Given the description of an element on the screen output the (x, y) to click on. 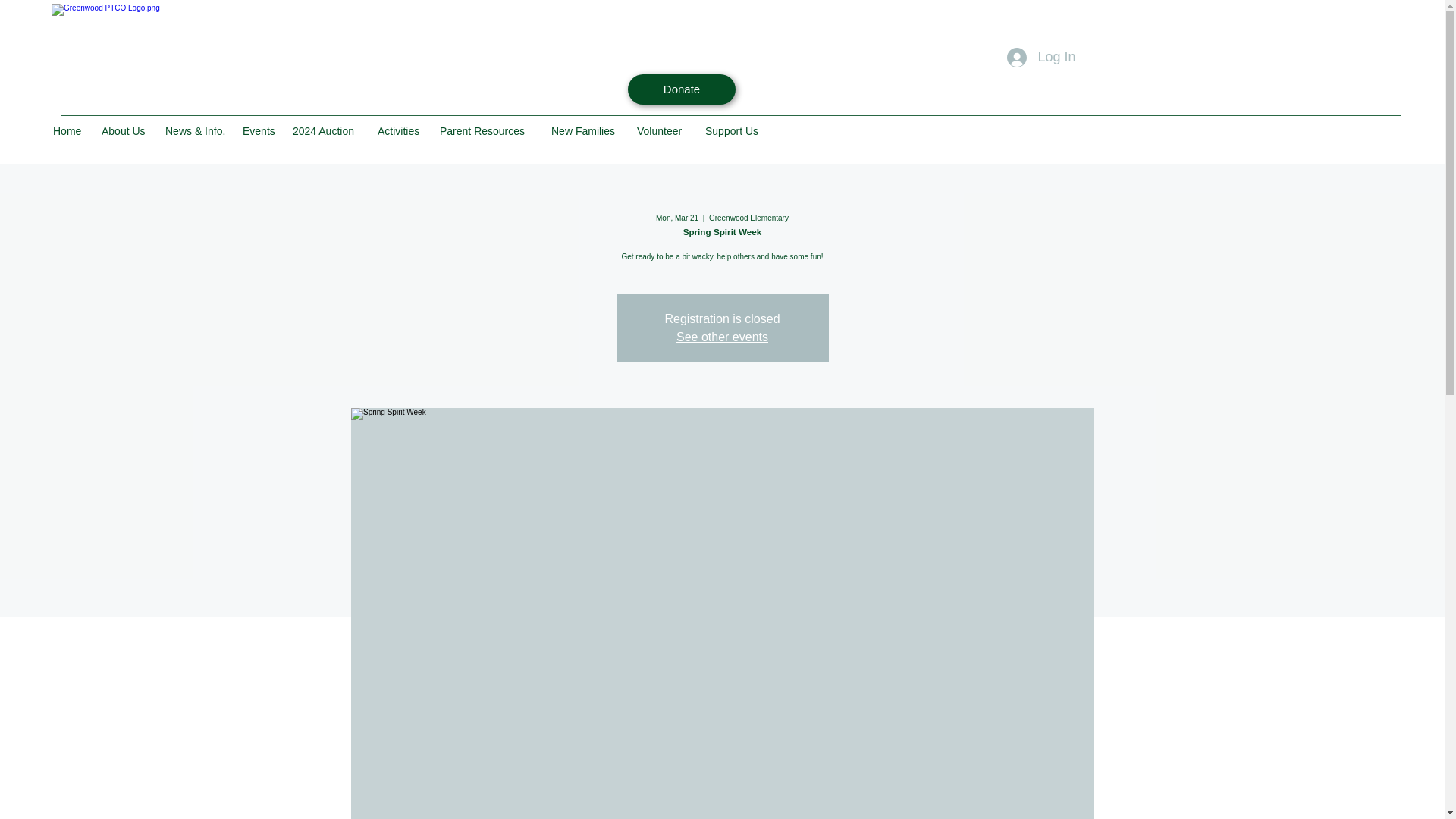
Parent Resources (487, 130)
See other events (722, 336)
Home (69, 130)
Donate (681, 89)
Support Us (734, 130)
Activities (400, 130)
About Us (125, 130)
Volunteer (662, 130)
New Families (585, 130)
2024 Auction (327, 130)
Events (259, 130)
Log In (1040, 57)
